Given the description of an element on the screen output the (x, y) to click on. 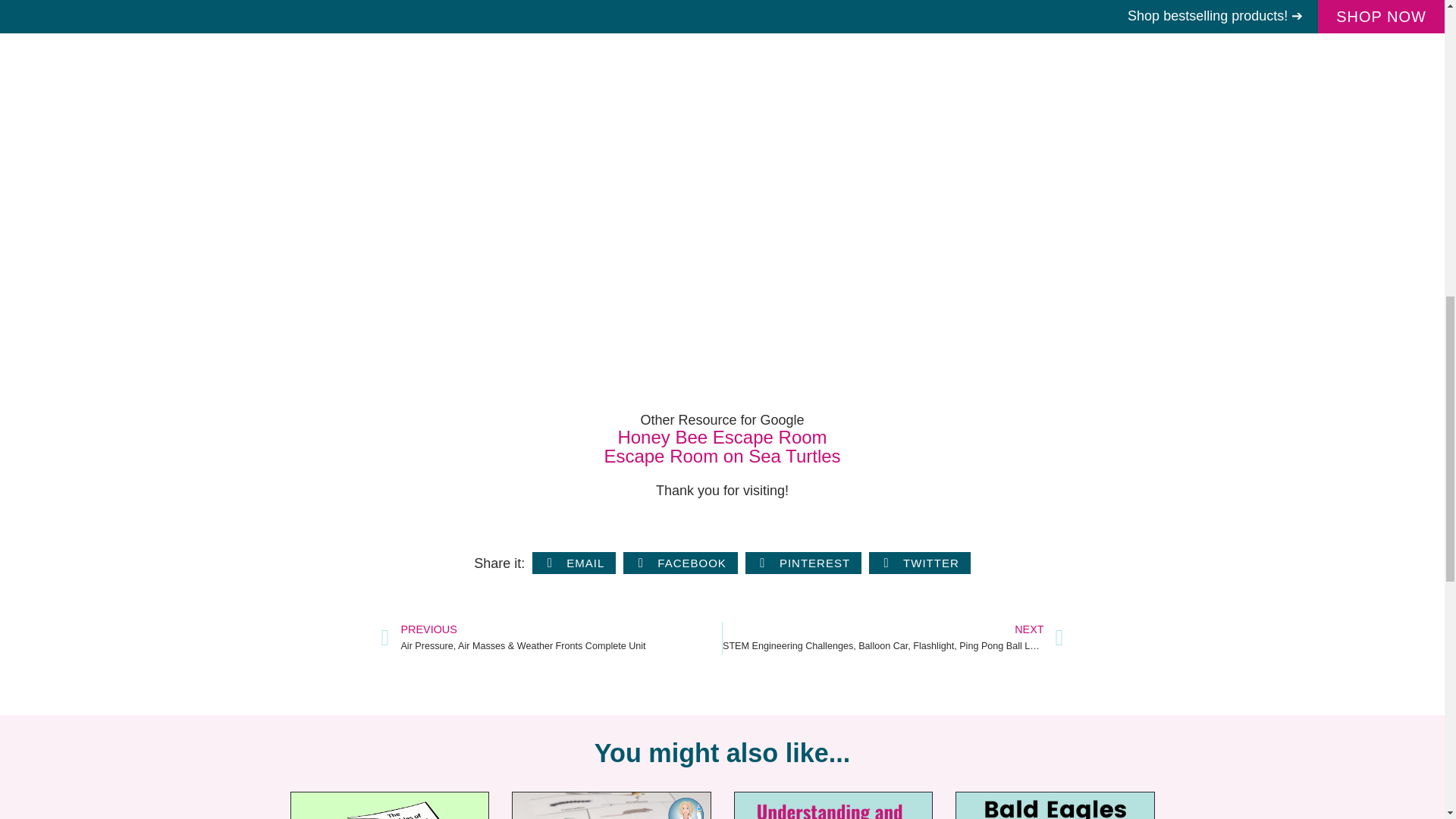
Honey Bee Escape Room (722, 436)
Escape Room on Sea Turtles (722, 458)
